Given the description of an element on the screen output the (x, y) to click on. 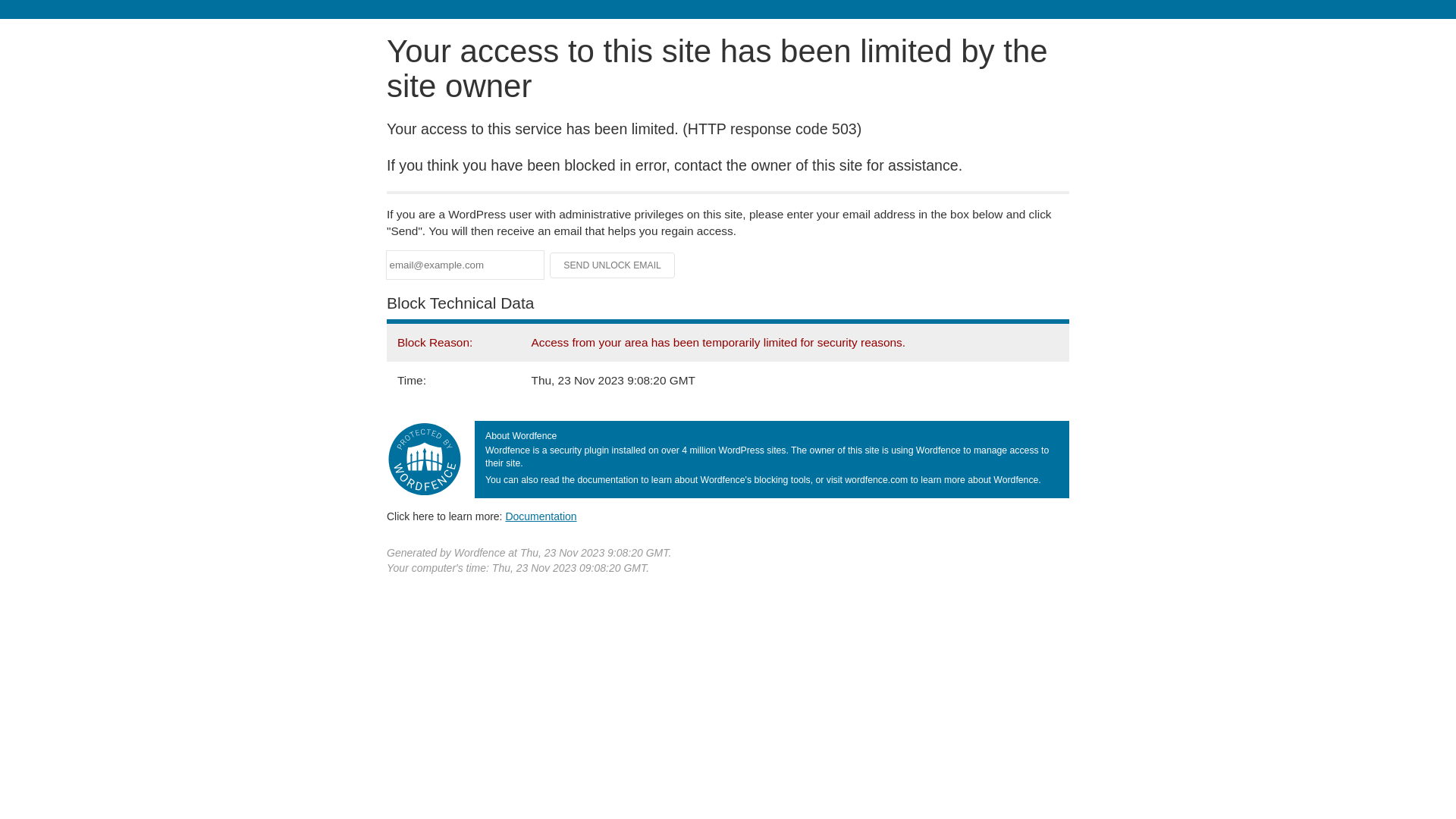
Documentation Element type: text (540, 516)
Send Unlock Email Element type: text (612, 265)
